Given the description of an element on the screen output the (x, y) to click on. 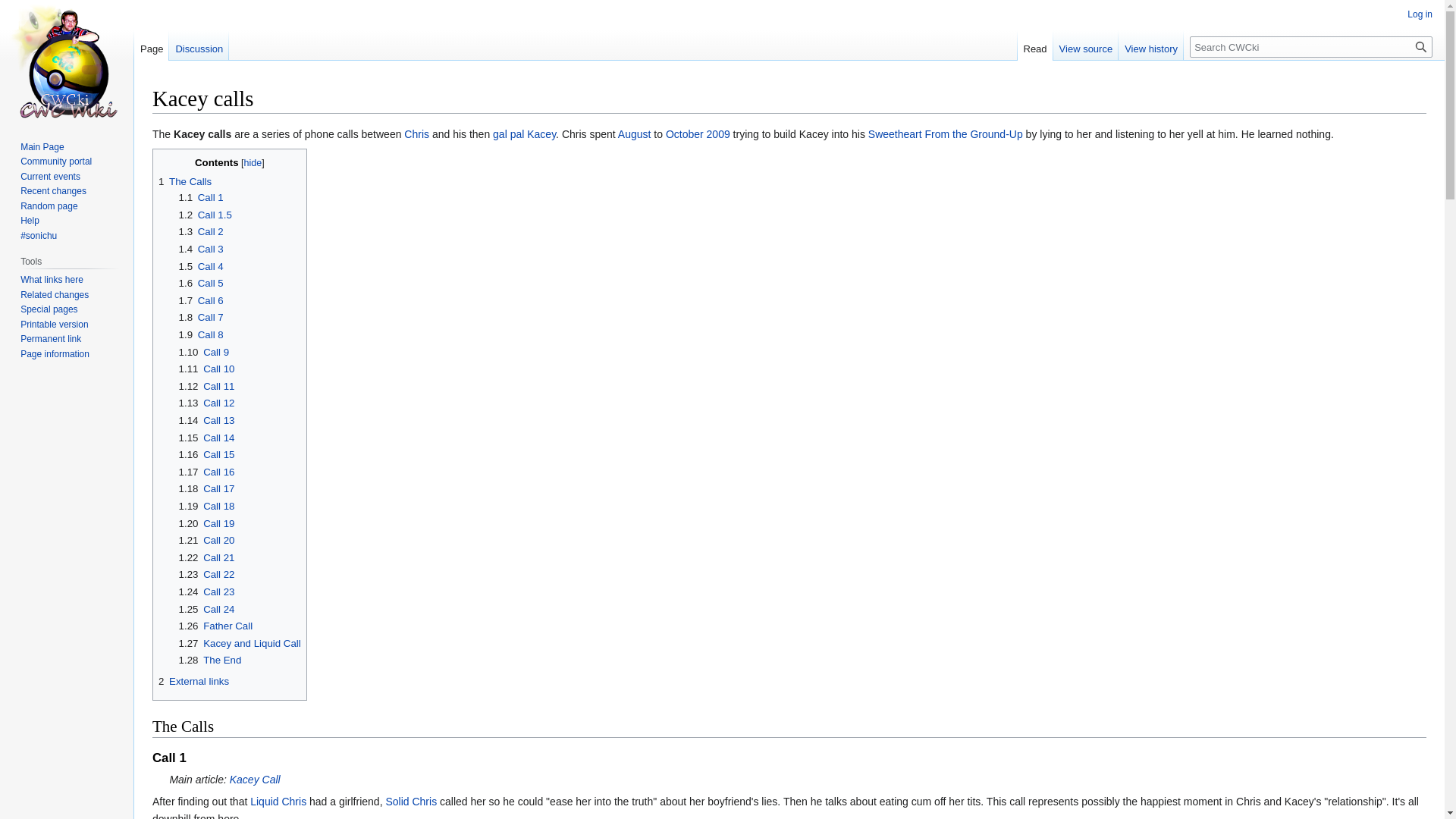
Sweetheart From the Ground-Up (945, 133)
Chris (416, 133)
1.8 Call 7 (201, 317)
2 External links (193, 681)
1.6 Call 5 (201, 283)
October 2009 (697, 133)
1 The Calls (184, 181)
Kacey Call (255, 779)
1.1 Call 1 (201, 197)
1.9 Call 8 (201, 334)
1.19 Call 18 (206, 505)
August 2009 (633, 133)
1.16 Call 15 (206, 454)
Go (1420, 46)
